Given the description of an element on the screen output the (x, y) to click on. 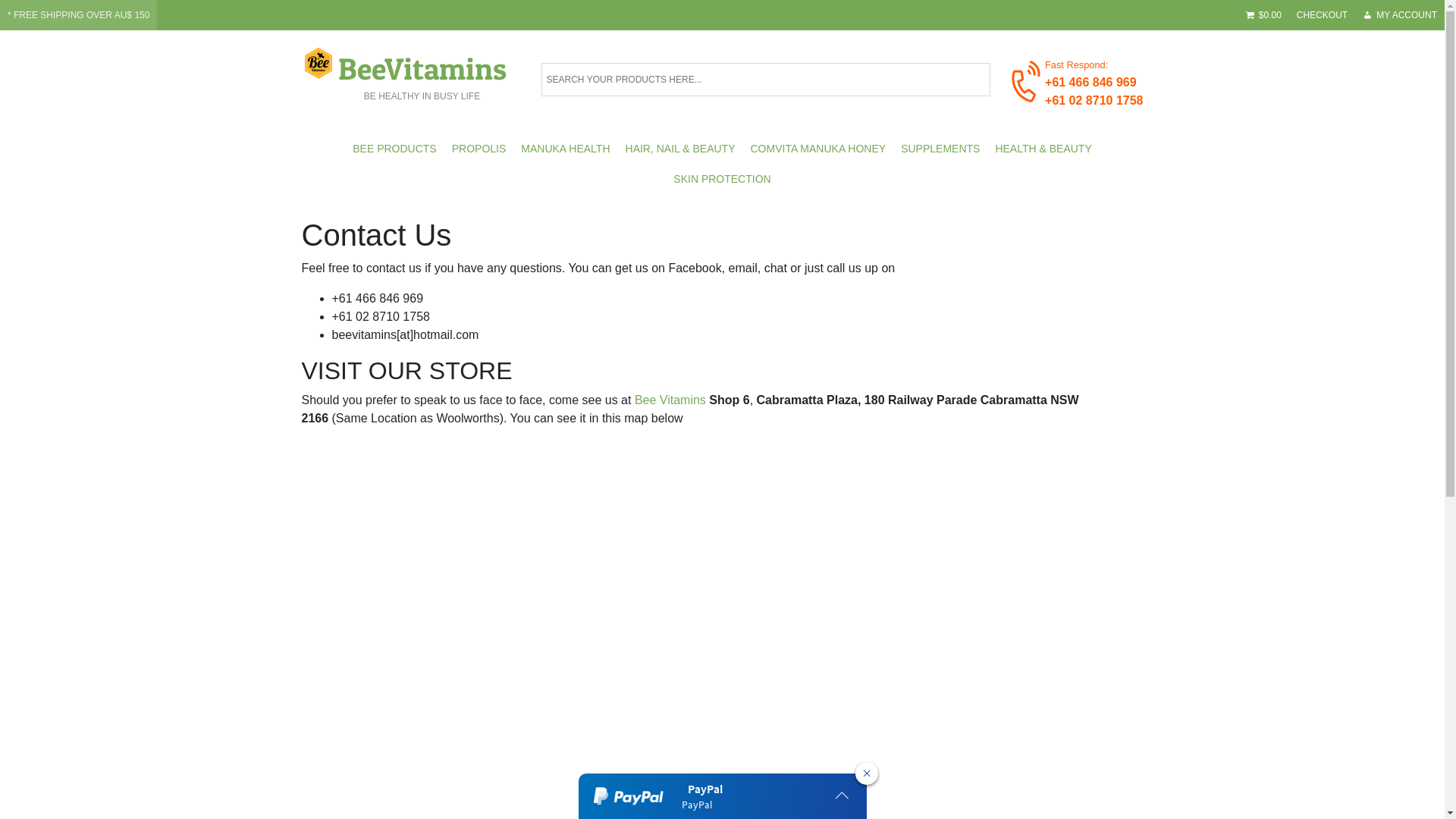
HEALTH & BEAUTY Element type: text (1042, 148)
BEE PRODUCTS Element type: text (394, 148)
HAIR, NAIL & BEAUTY Element type: text (680, 148)
MY ACCOUNT Element type: text (1399, 15)
Bee Vitamins Element type: text (670, 399)
MANUKA HEALTH Element type: text (565, 148)
PROPOLIS Element type: text (479, 148)
* FREE SHIPPING OVER AU$ 150 Element type: text (78, 15)
BeeVitamins
BE HEALTHY IN BUSY LIFE Element type: text (422, 73)
$0.00 Element type: text (1263, 15)
CHECKOUT Element type: text (1322, 15)
SUPPLEMENTS Element type: text (940, 148)
SKIN PROTECTION Element type: text (721, 178)
COMVITA MANUKA HONEY Element type: text (818, 148)
